Given the description of an element on the screen output the (x, y) to click on. 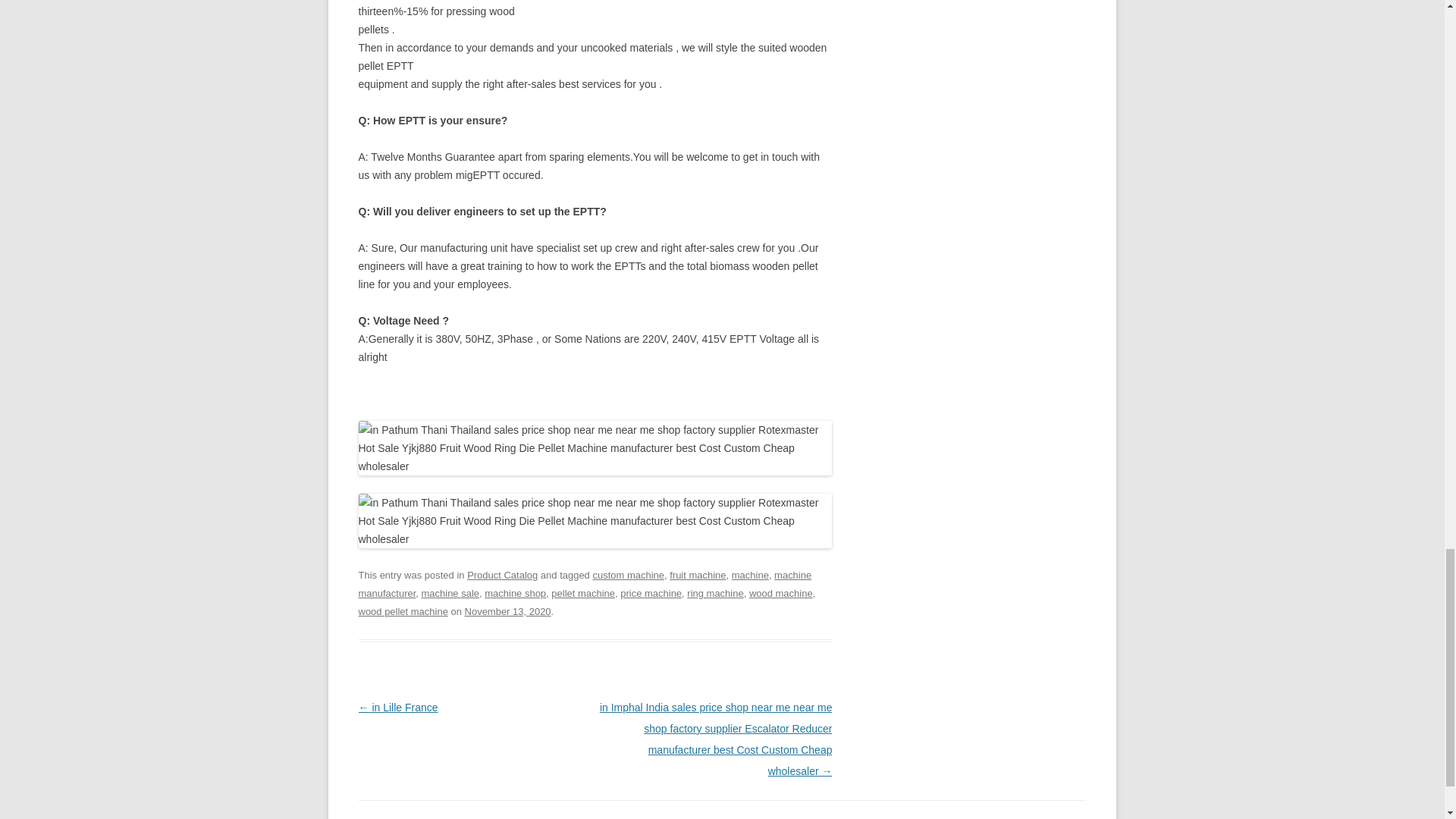
machine shop (515, 593)
fruit machine (697, 574)
pellet machine (582, 593)
machine sale (451, 593)
ring machine (714, 593)
wood machine (780, 593)
1:25 am (507, 611)
custom machine (627, 574)
wood pellet machine (402, 611)
machine manufacturer (584, 583)
Product Catalog (502, 574)
price machine (650, 593)
machine (750, 574)
